Given the description of an element on the screen output the (x, y) to click on. 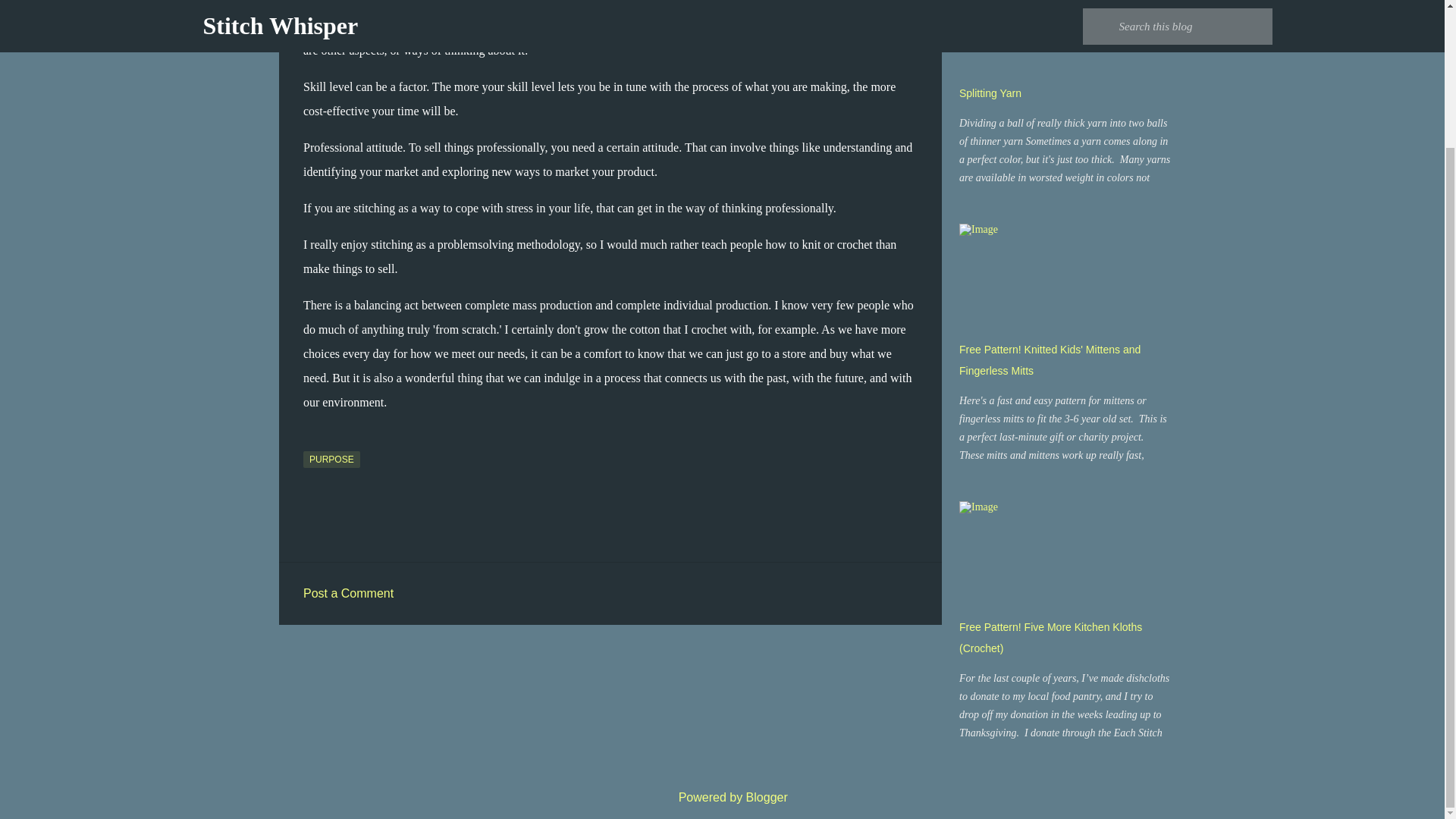
Post a Comment (347, 593)
PURPOSE (330, 459)
Email Post (311, 441)
Free Pattern! Knitted Kids' Mittens and Fingerless Mitts (1049, 359)
Splitting Yarn (990, 92)
Powered by Blogger (721, 797)
